Given the description of an element on the screen output the (x, y) to click on. 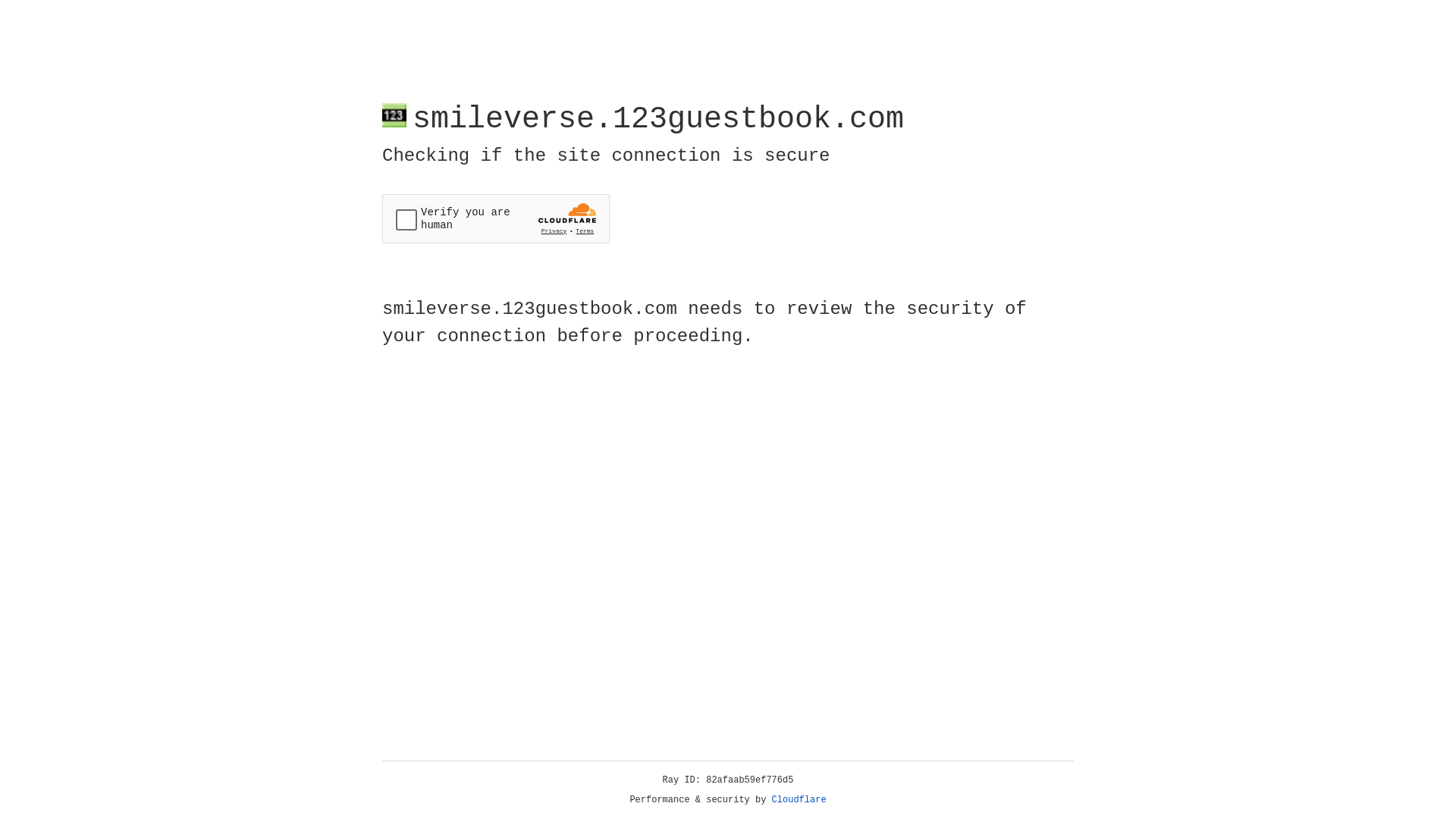
Cloudflare Element type: text (798, 799)
Widget containing a Cloudflare security challenge Element type: hover (495, 218)
